Given the description of an element on the screen output the (x, y) to click on. 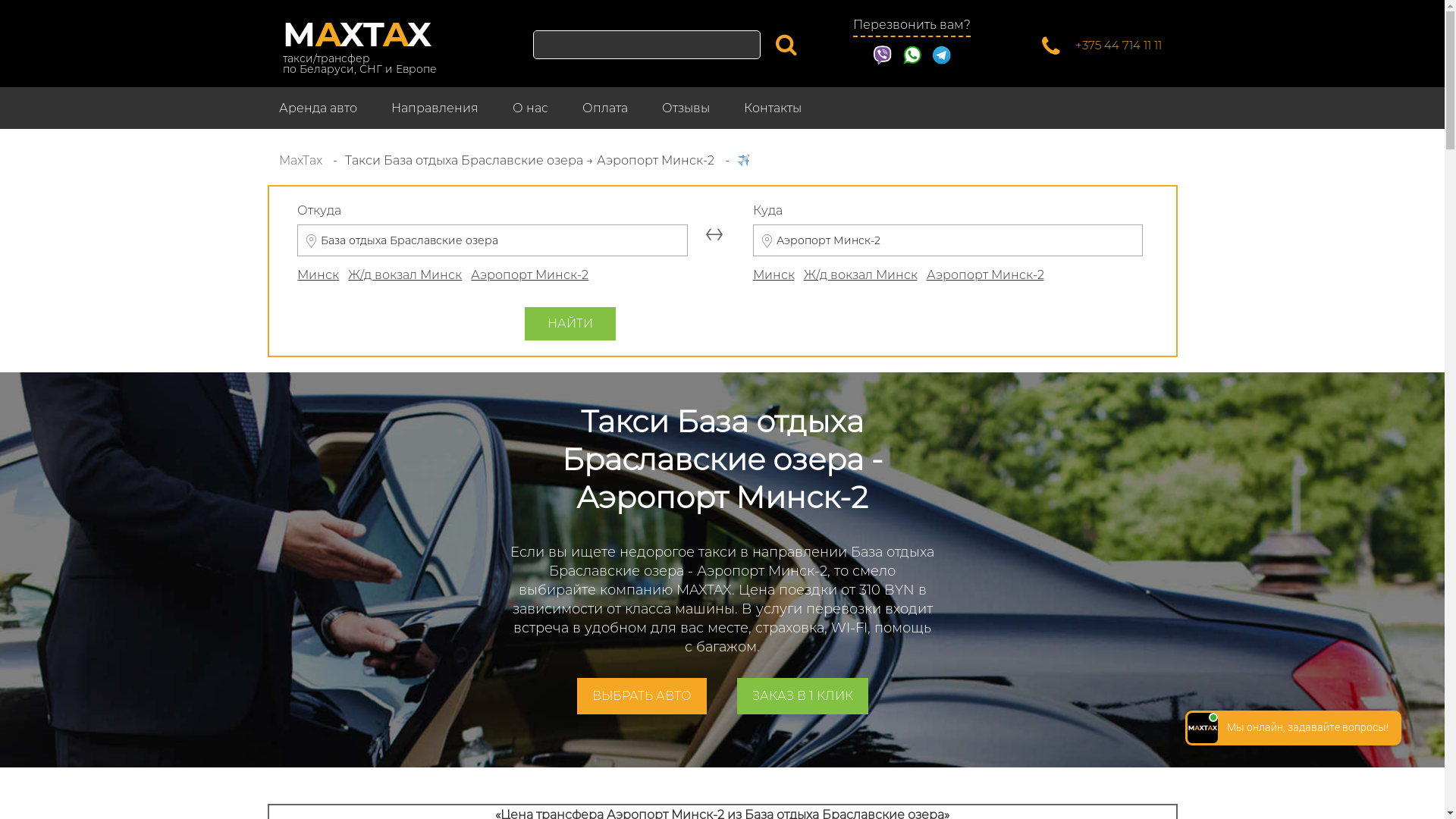
MAXTAX Element type: text (356, 33)
MaxTax Element type: text (302, 160)
